Given the description of an element on the screen output the (x, y) to click on. 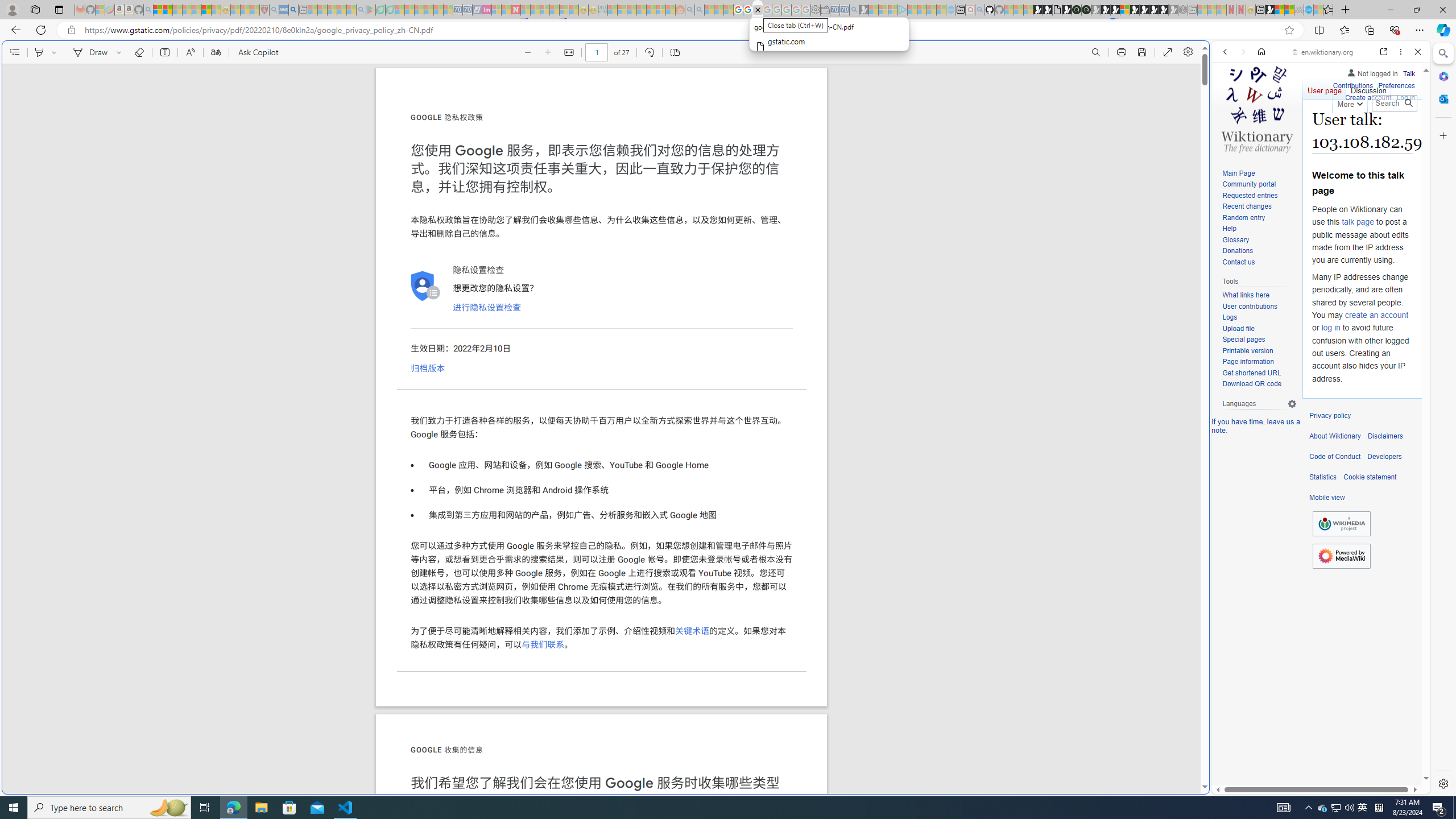
Printable version (1247, 350)
User contributions (1248, 306)
Bluey: Let's Play! - Apps on Google Play - Sleeping (370, 9)
Mobile view (1326, 497)
Home | Sky Blue Bikes - Sky Blue Bikes - Sleeping (950, 9)
en.wiktionary.org (1323, 51)
Get shortened URL (1259, 373)
Main Page (1259, 173)
More (1349, 101)
Zoom in (Ctrl+Plus key) (548, 52)
Kinda Frugal - MSN - Sleeping (651, 9)
Main Page (1238, 172)
MSN (1269, 9)
